Given the description of an element on the screen output the (x, y) to click on. 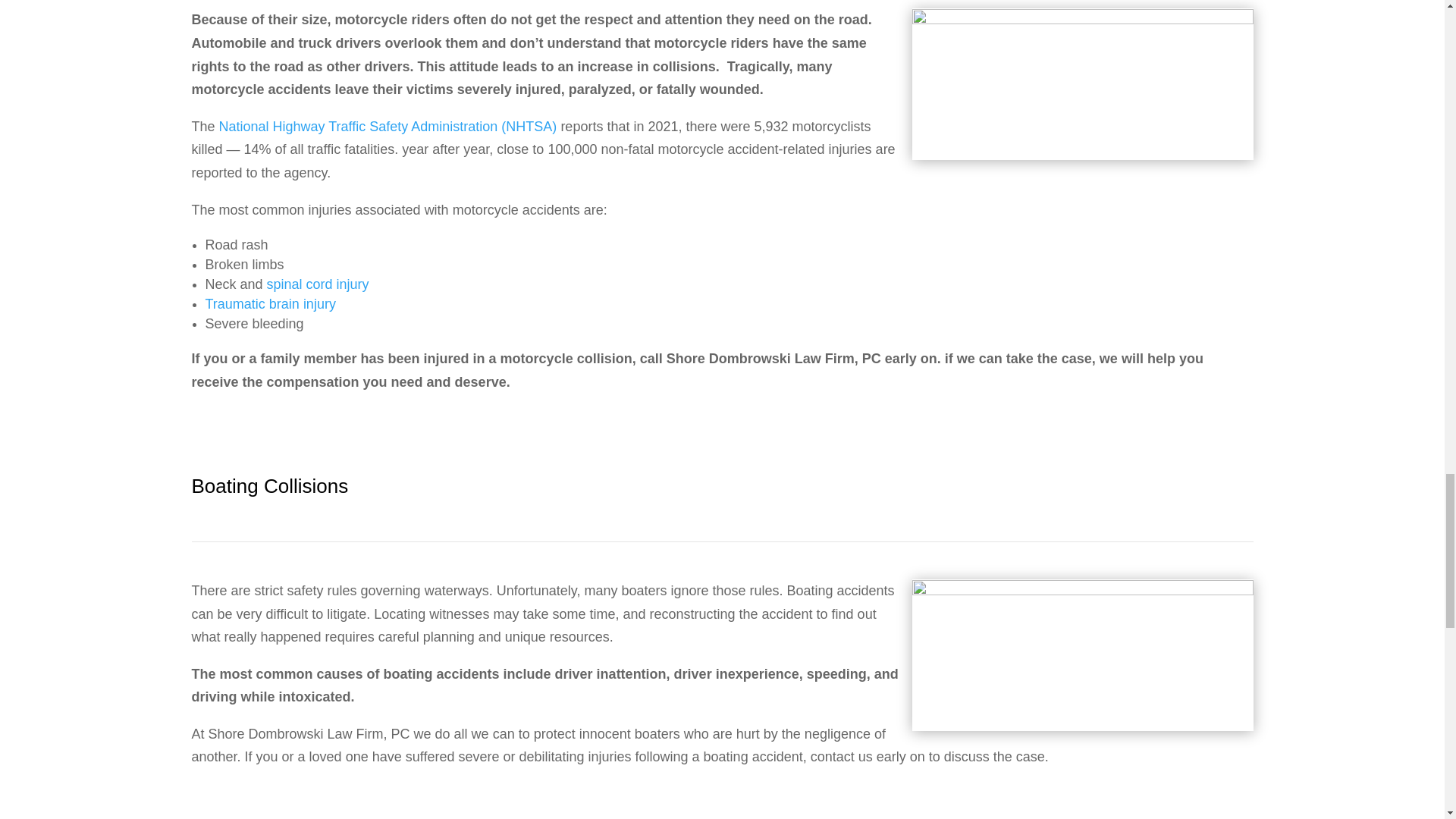
spinal cord injury (317, 283)
Traumatic brain injury (269, 304)
